Given the description of an element on the screen output the (x, y) to click on. 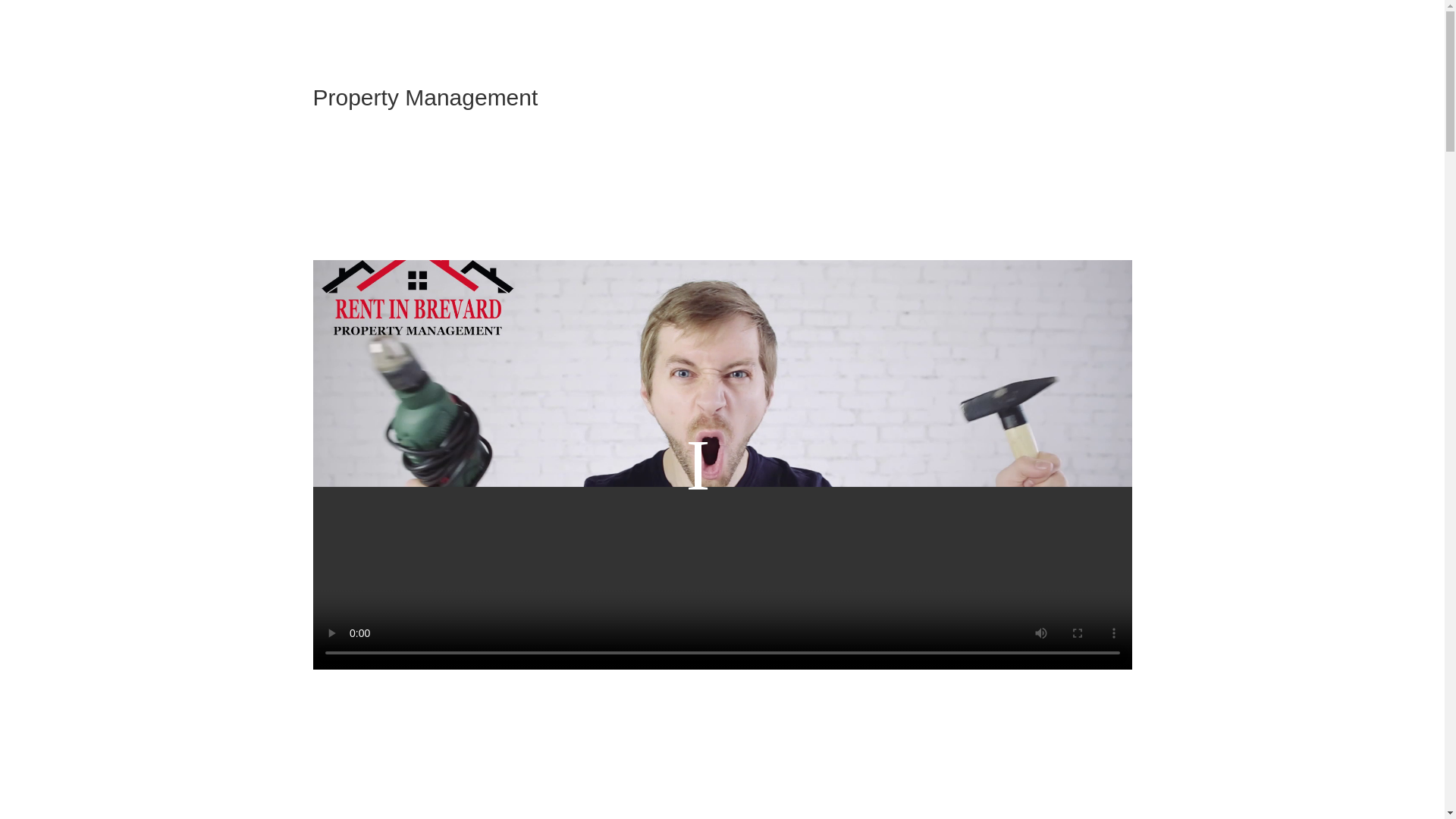
Get Started with Your Rental Analysis (721, 158)
Call us Now 321-622-3257 (721, 218)
